Given the description of an element on the screen output the (x, y) to click on. 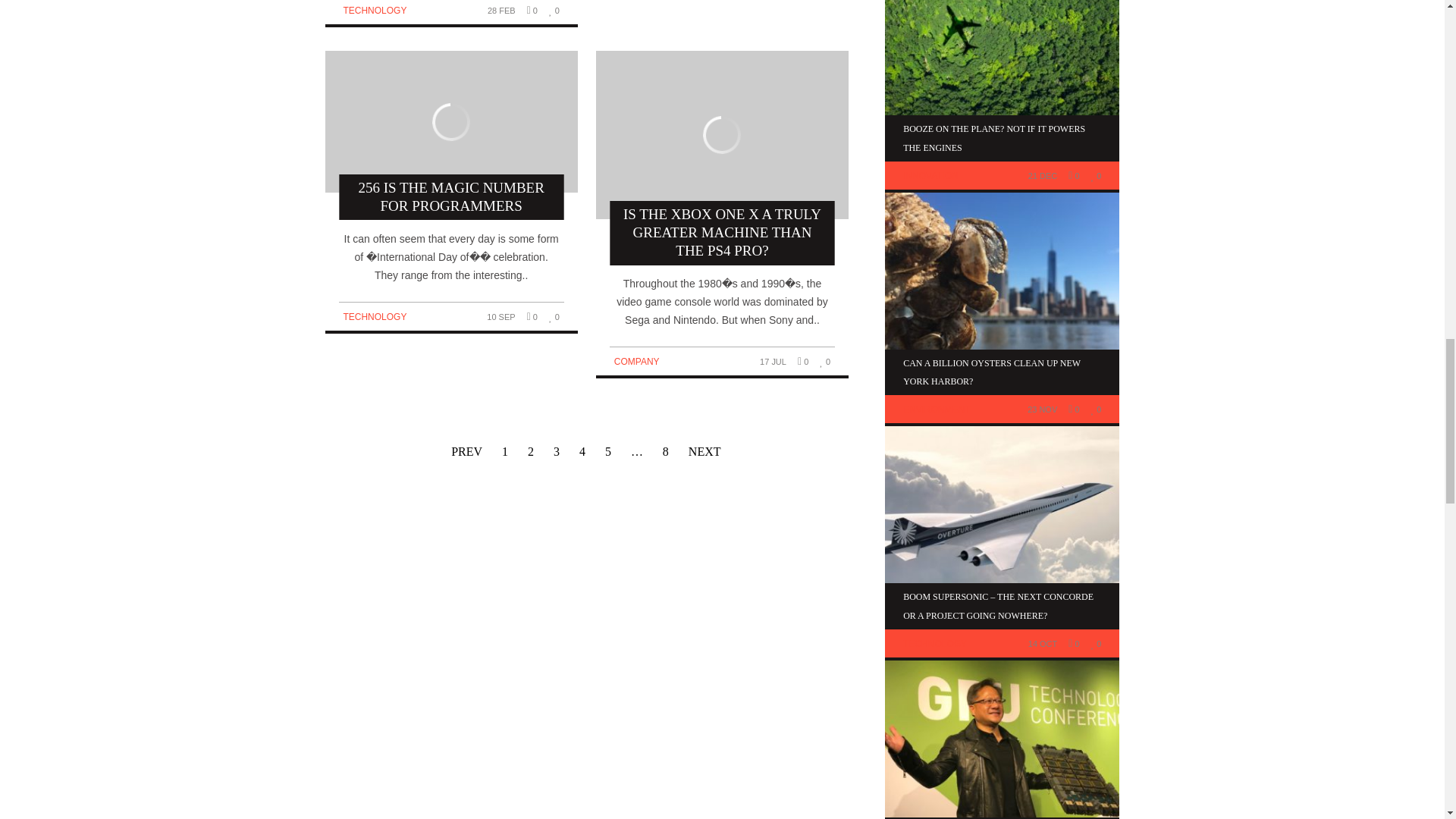
View all posts in Technology (374, 9)
View all posts in Company (636, 361)
View all posts in Innovation (930, 175)
View all posts in Technology (374, 317)
